Given the description of an element on the screen output the (x, y) to click on. 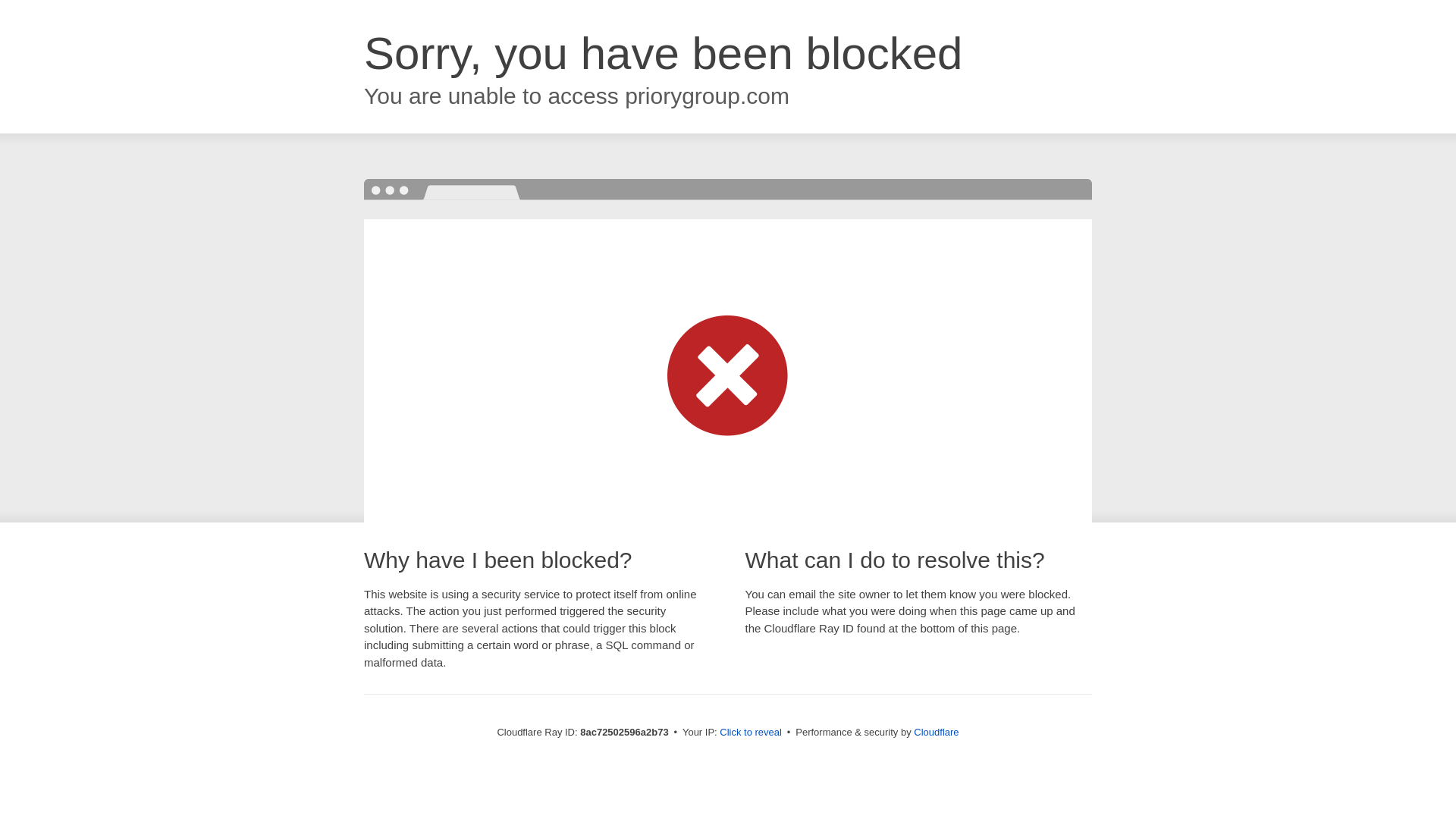
Click to reveal (750, 732)
Cloudflare (936, 731)
